Given the description of an element on the screen output the (x, y) to click on. 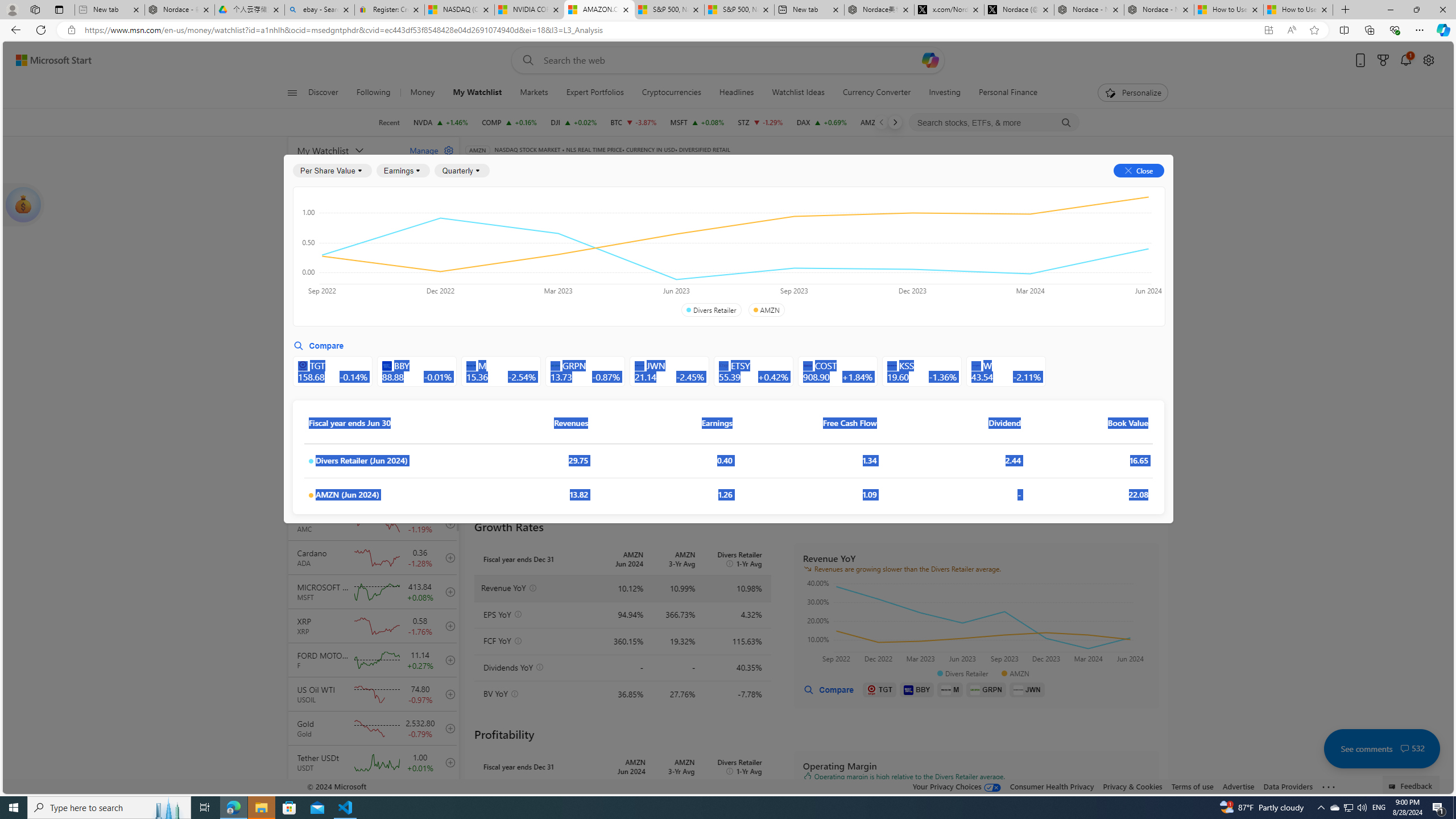
Profitability (662, 253)
Terms of use (1192, 785)
Sentiment (1066, 188)
Cryptocurrencies (671, 92)
Microsoft rewards (1382, 60)
